Given the description of an element on the screen output the (x, y) to click on. 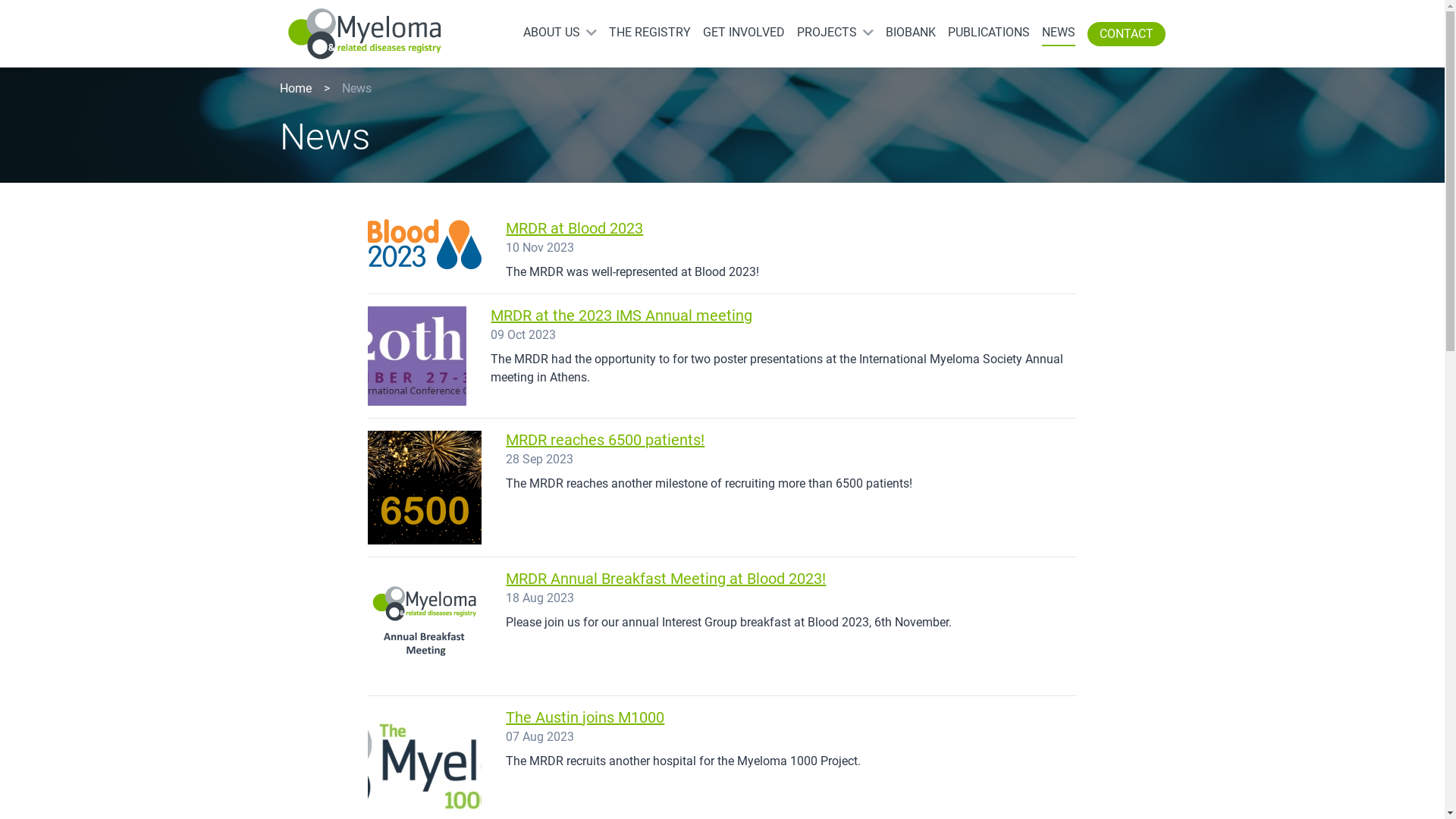
The Austin joins M1000 Element type: text (584, 717)
NEWS Element type: text (1058, 33)
MRDR at the 2023 IMS Annual meeting Element type: text (621, 315)
THE REGISTRY Element type: text (649, 33)
Myeloma and Related Diseases Registry Element type: hover (363, 33)
CONTACT Element type: text (1126, 33)
MRDR at Blood 2023 Element type: text (574, 228)
MRDR reaches 6500 patients! Element type: text (604, 439)
ABOUT US Element type: text (551, 33)
MRDR Annual Breakfast Meeting at Blood 2023! Element type: text (665, 578)
PUBLICATIONS Element type: text (988, 33)
GET INVOLVED Element type: text (743, 33)
Home Element type: text (294, 88)
BIOBANK Element type: text (910, 33)
PROJECTS Element type: text (826, 33)
